Given the description of an element on the screen output the (x, y) to click on. 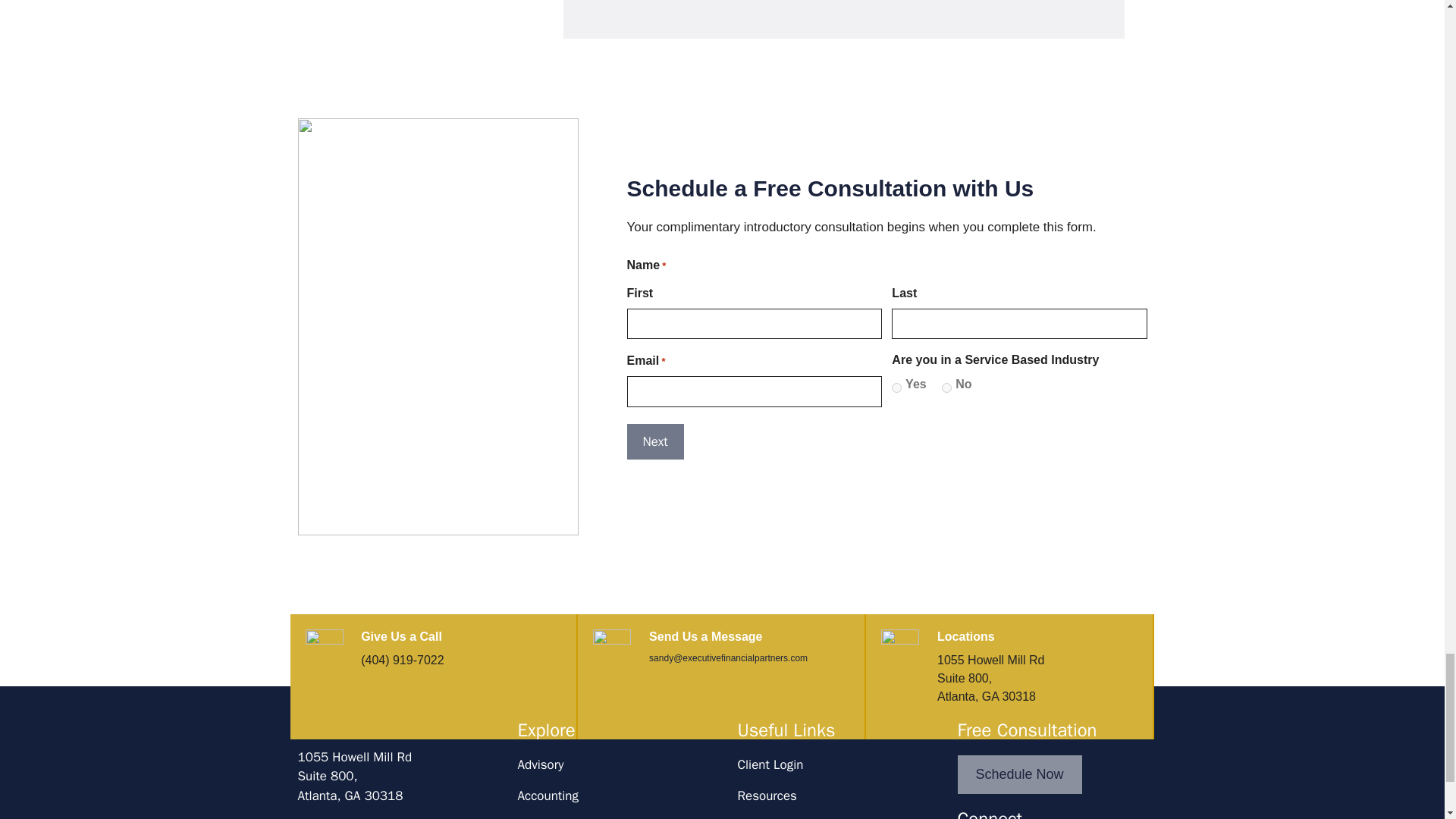
Directions (325, 818)
Schedule Now (1018, 774)
Yes (896, 388)
Resources (766, 795)
Next (654, 442)
Accounting (547, 795)
Client Login (769, 764)
Advisory (539, 764)
No (947, 388)
Atlanta, GA 30318 (354, 766)
Blog (350, 795)
